Given the description of an element on the screen output the (x, y) to click on. 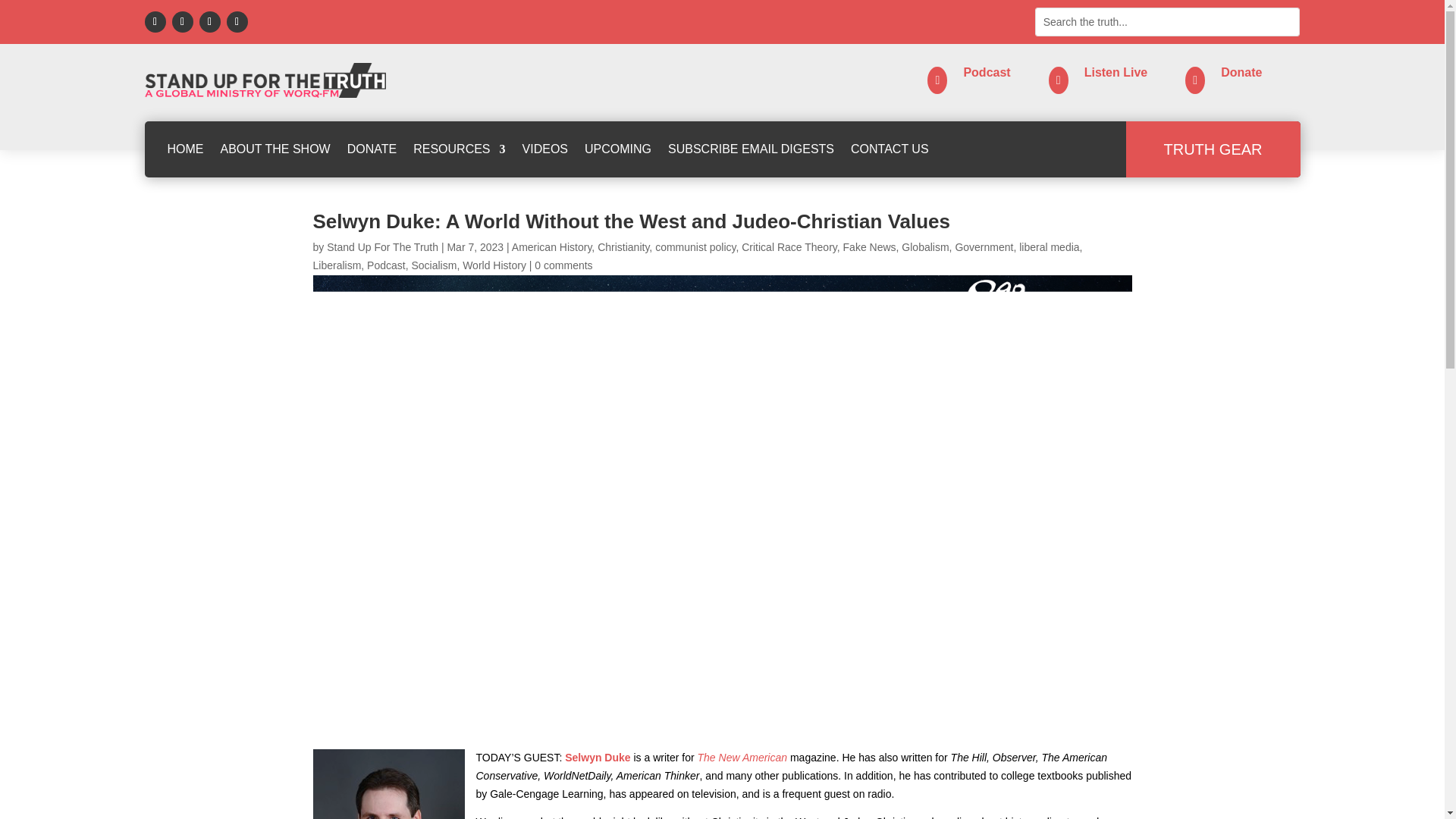
RESOURCES (459, 149)
Posts by Stand Up For The Truth (382, 246)
Government (984, 246)
Donate (1241, 72)
Listen Live (1116, 72)
SUBSCRIBE EMAIL DIGESTS (751, 149)
TRUTH GEAR (1212, 149)
UPCOMING (617, 149)
Follow on Facebook (154, 21)
